Given the description of an element on the screen output the (x, y) to click on. 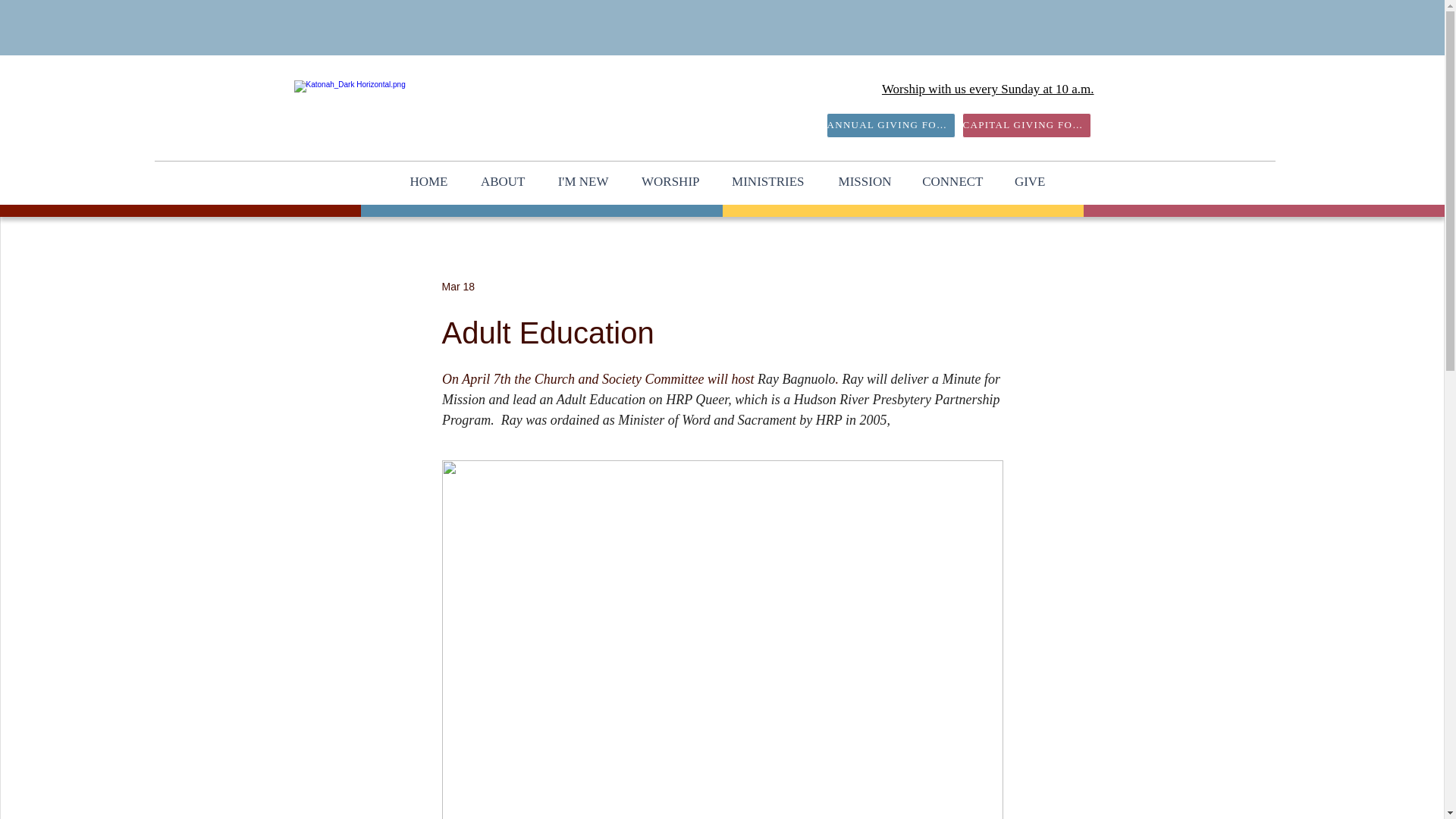
CAPITAL GIVING FORM (1025, 125)
ABOUT (498, 181)
ANNUAL GIVING FORM (891, 125)
GIVE (1025, 181)
MISSION (858, 181)
Worship with us every Sunday at 10 a.m. (988, 88)
MINISTRIES (763, 181)
WORSHIP (665, 181)
I'M NEW (578, 181)
CONNECT (948, 181)
HOME (422, 181)
Mar 18 (457, 286)
